Given the description of an element on the screen output the (x, y) to click on. 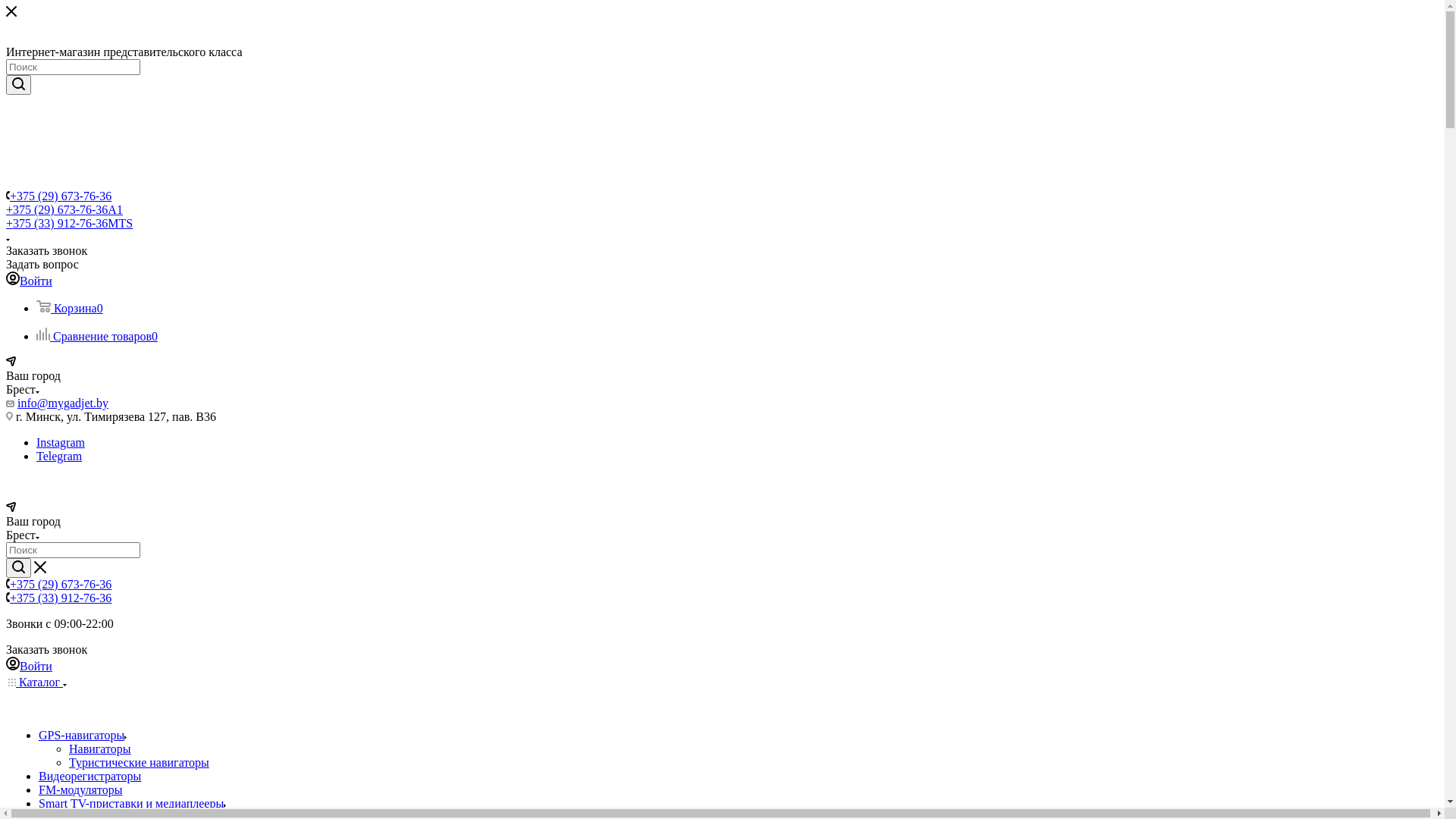
Wanbo Element type: hover (8, 699)
+375 (29) 673-76-36 Element type: text (60, 195)
Instagram Element type: text (60, 442)
+375 (33) 912-76-36 Element type: text (60, 597)
info@mygadjet.by Element type: text (62, 402)
+375 (29) 673-76-36 Element type: text (60, 583)
Xiaomi Element type: hover (8, 712)
Telegram Element type: text (58, 455)
+375 (29) 673-76-36A1 Element type: text (64, 209)
+375 (33) 912-76-36MTS Element type: text (69, 222)
